Given the description of an element on the screen output the (x, y) to click on. 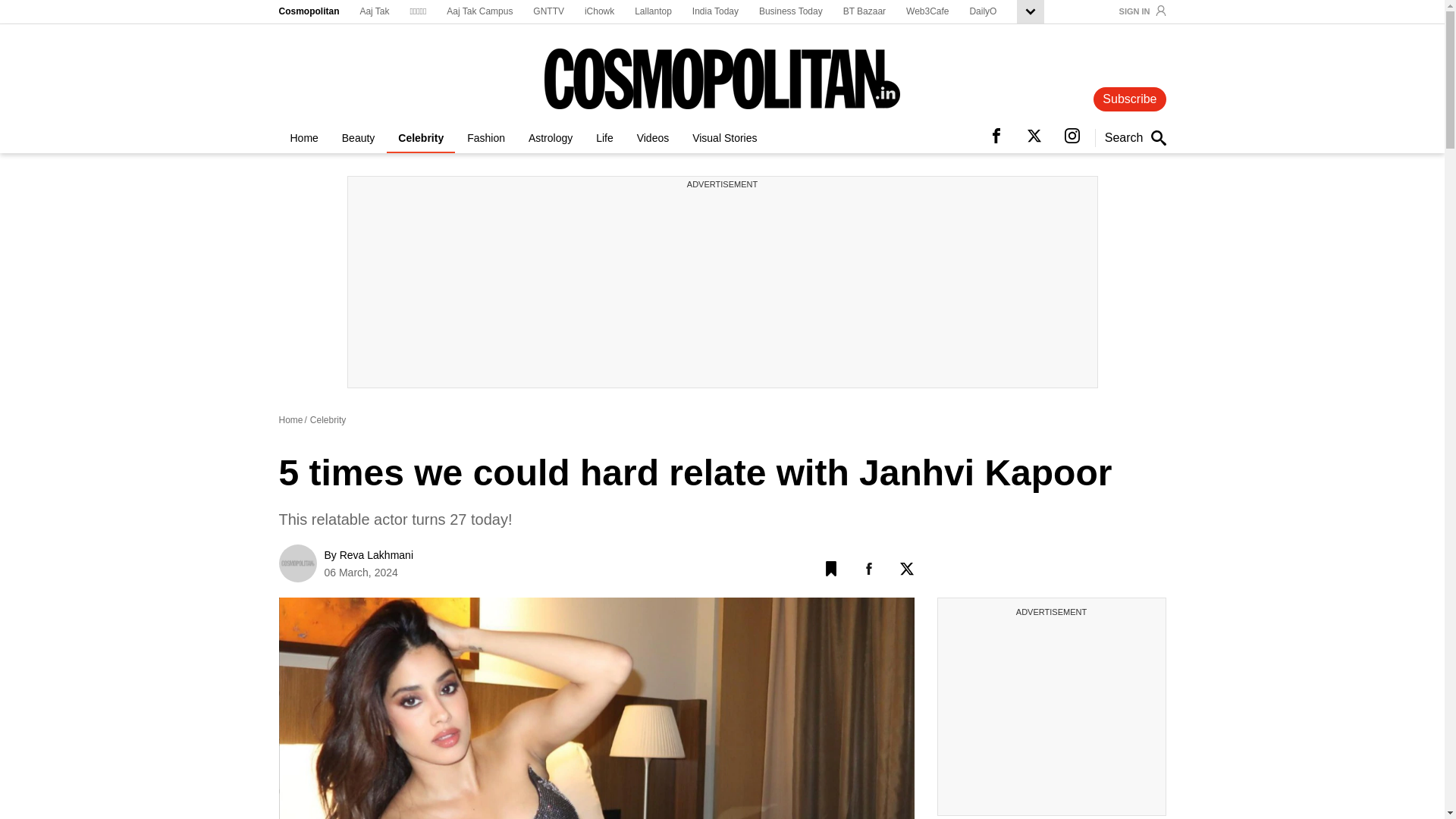
Lallantop (652, 11)
Visual Stories (724, 141)
By Reva Lakhmani (368, 554)
BT Bazaar (864, 11)
India Today (715, 11)
Fashion (485, 141)
Business Today (790, 11)
Lallantop (652, 11)
Aaj Tak Campus (479, 11)
DailyO (982, 11)
